Given the description of an element on the screen output the (x, y) to click on. 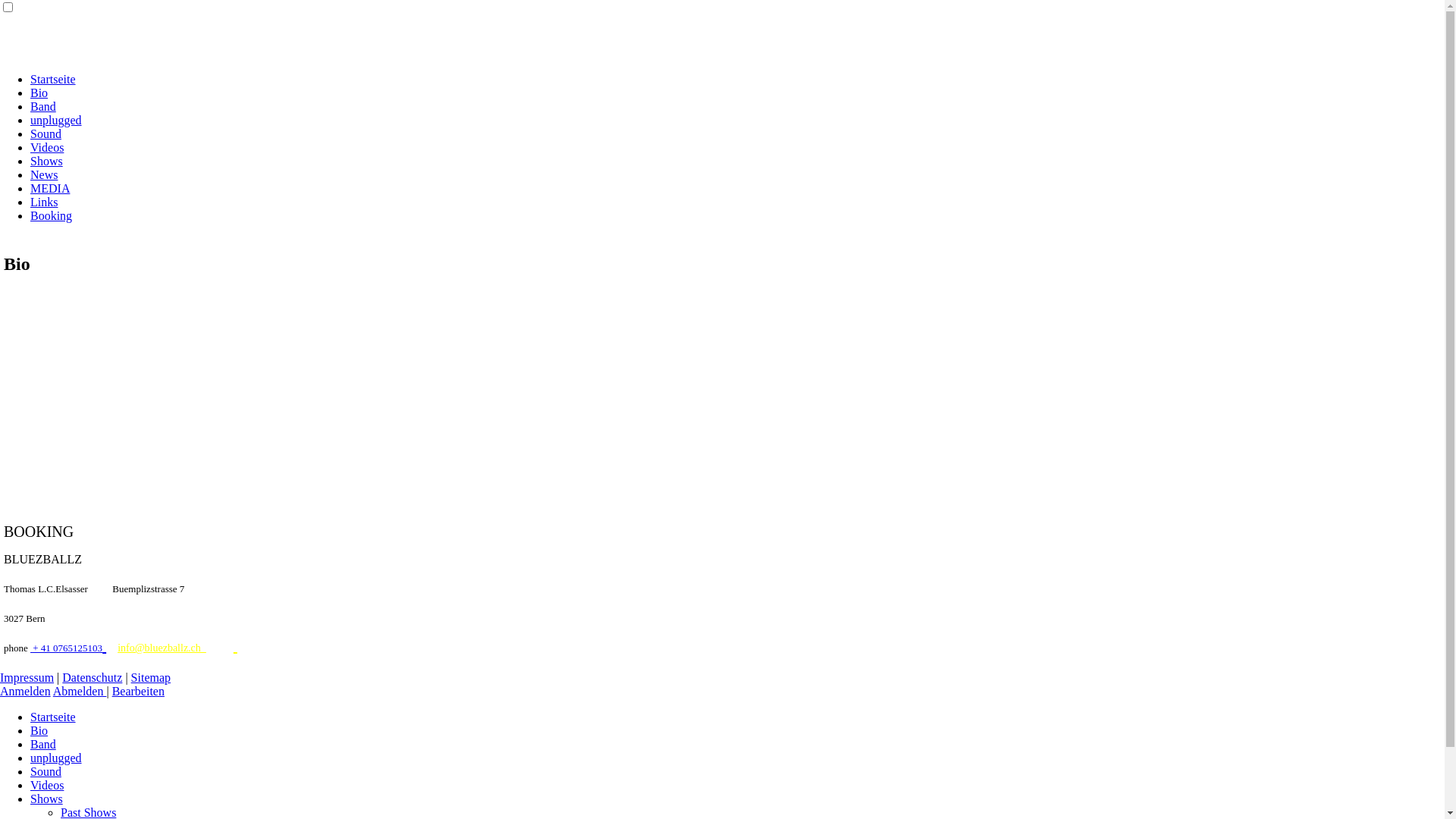
Anmelden Element type: text (25, 690)
Videos Element type: text (46, 147)
Sound Element type: text (45, 771)
  Element type: text (104, 645)
Bearbeiten Element type: text (138, 690)
Datenschutz Element type: text (92, 677)
Startseite Element type: text (52, 716)
Abmelden Element type: text (79, 690)
unplugged Element type: text (55, 119)
Startseite Element type: text (52, 78)
  Element type: text (235, 645)
Impressum Element type: text (26, 677)
unplugged Element type: text (55, 757)
www.bluezballz.ch Element type: hover (235, 645)
Shows Element type: text (46, 798)
Sound Element type: text (45, 133)
Booking Element type: text (51, 215)
Videos Element type: text (46, 784)
Band Element type: text (43, 106)
News Element type: text (43, 174)
Bio Element type: text (38, 730)
 + 41 0765125103 Element type: text (66, 647)
MEDIA Element type: text (49, 188)
Links Element type: text (43, 201)
info@bluezballz.ch   Element type: text (161, 647)
Shows Element type: text (46, 160)
Band Element type: text (43, 743)
Sitemap Element type: text (150, 677)
Bio Element type: text (38, 92)
